Given the description of an element on the screen output the (x, y) to click on. 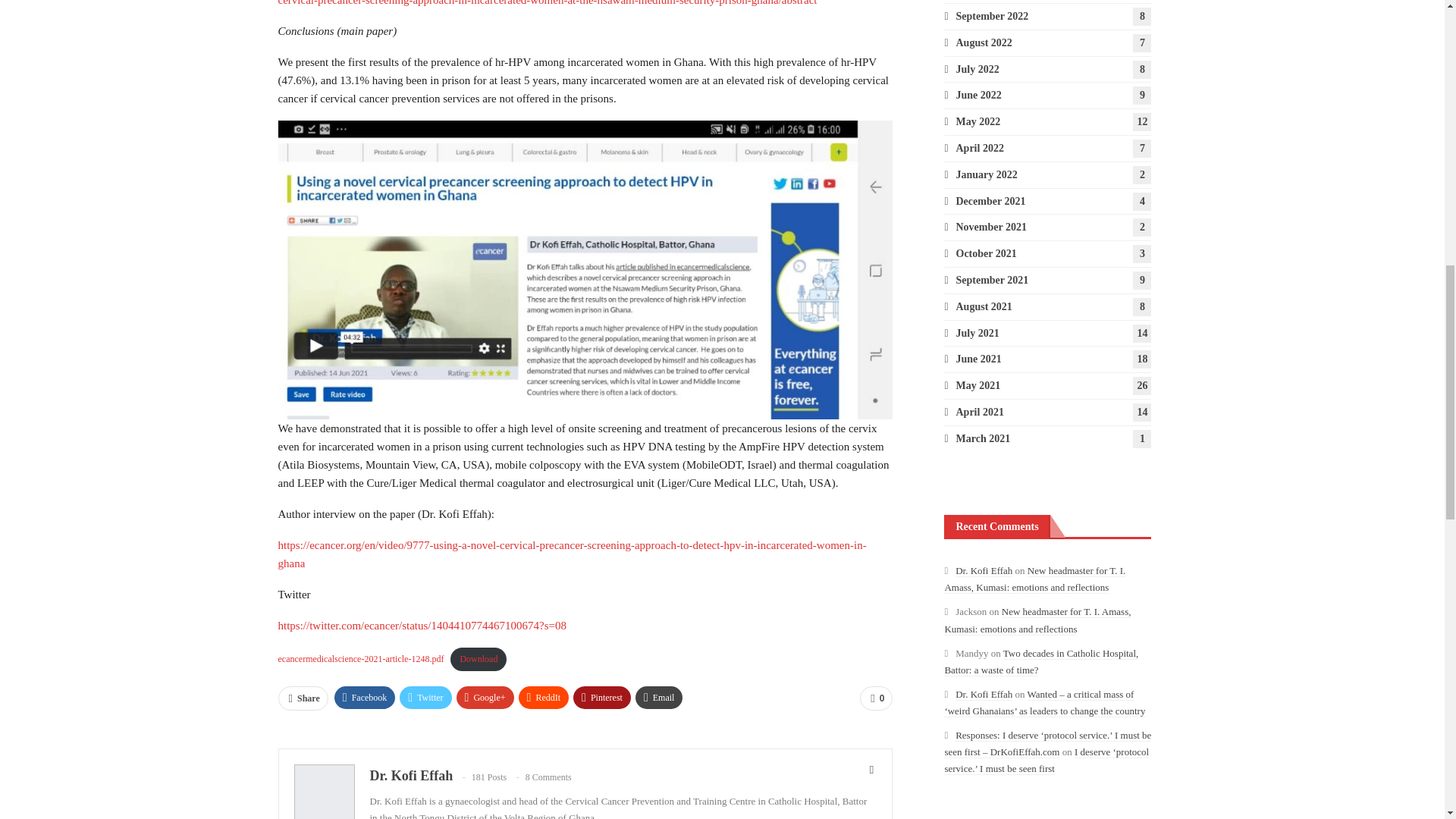
Twitter (424, 697)
0 (876, 698)
ecancermedicalscience-2021-article-1248.pdf (361, 658)
Download (477, 658)
Facebook (365, 697)
